Given the description of an element on the screen output the (x, y) to click on. 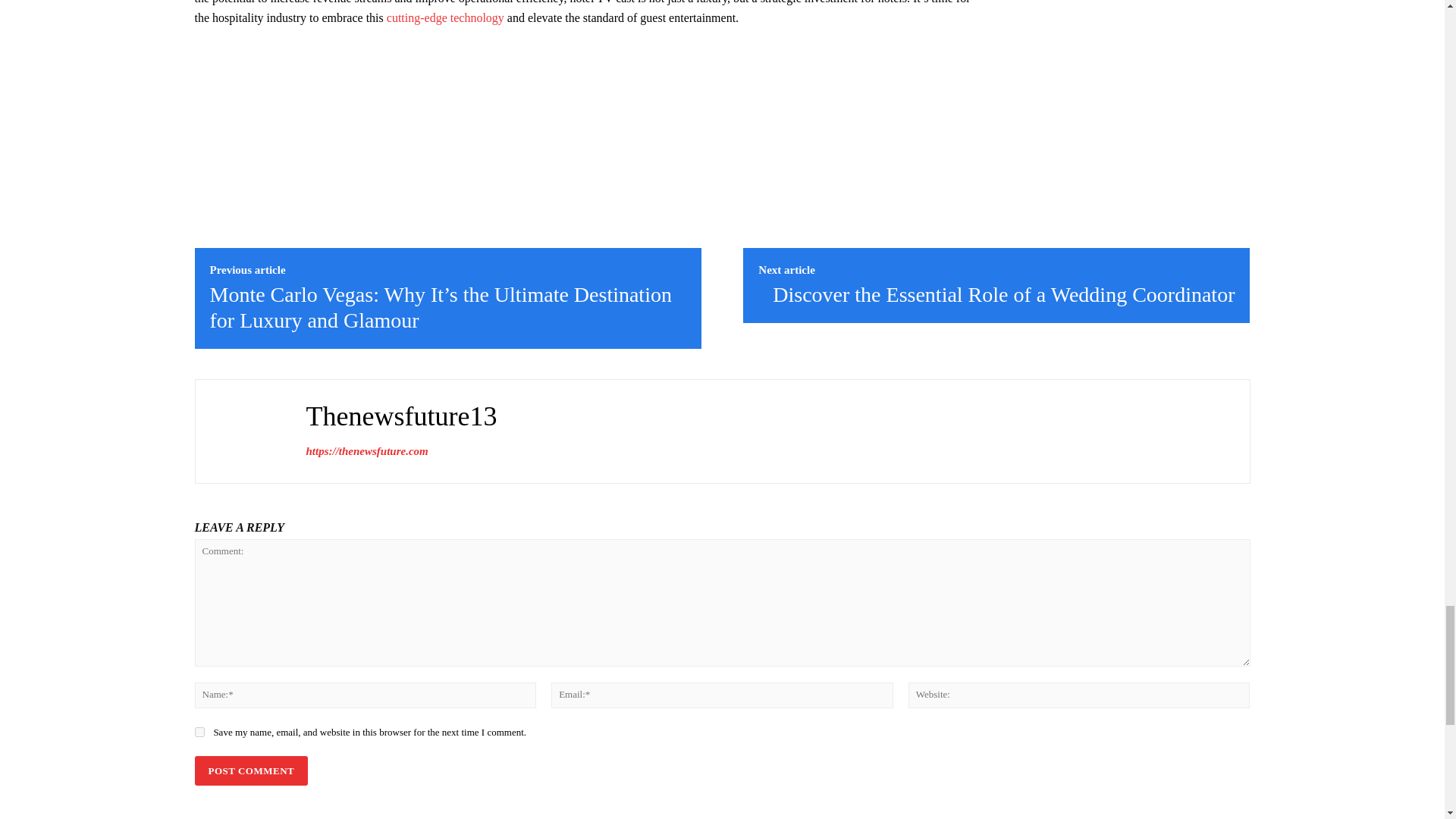
yes (198, 732)
Post Comment (250, 770)
